Given the description of an element on the screen output the (x, y) to click on. 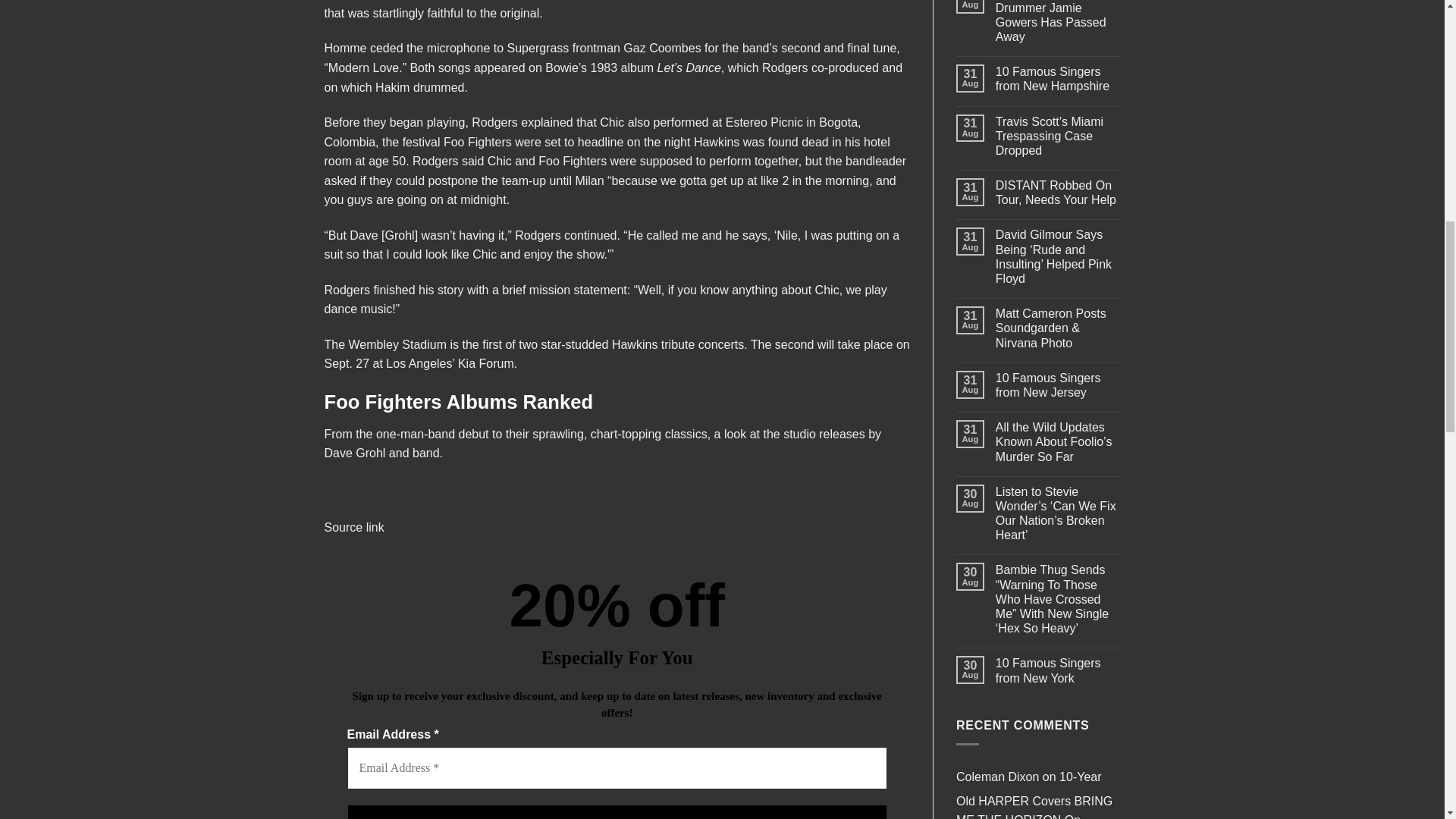
Email Address (617, 767)
found dead (798, 141)
Source link (354, 526)
Foo Fighters (478, 141)
